Given the description of an element on the screen output the (x, y) to click on. 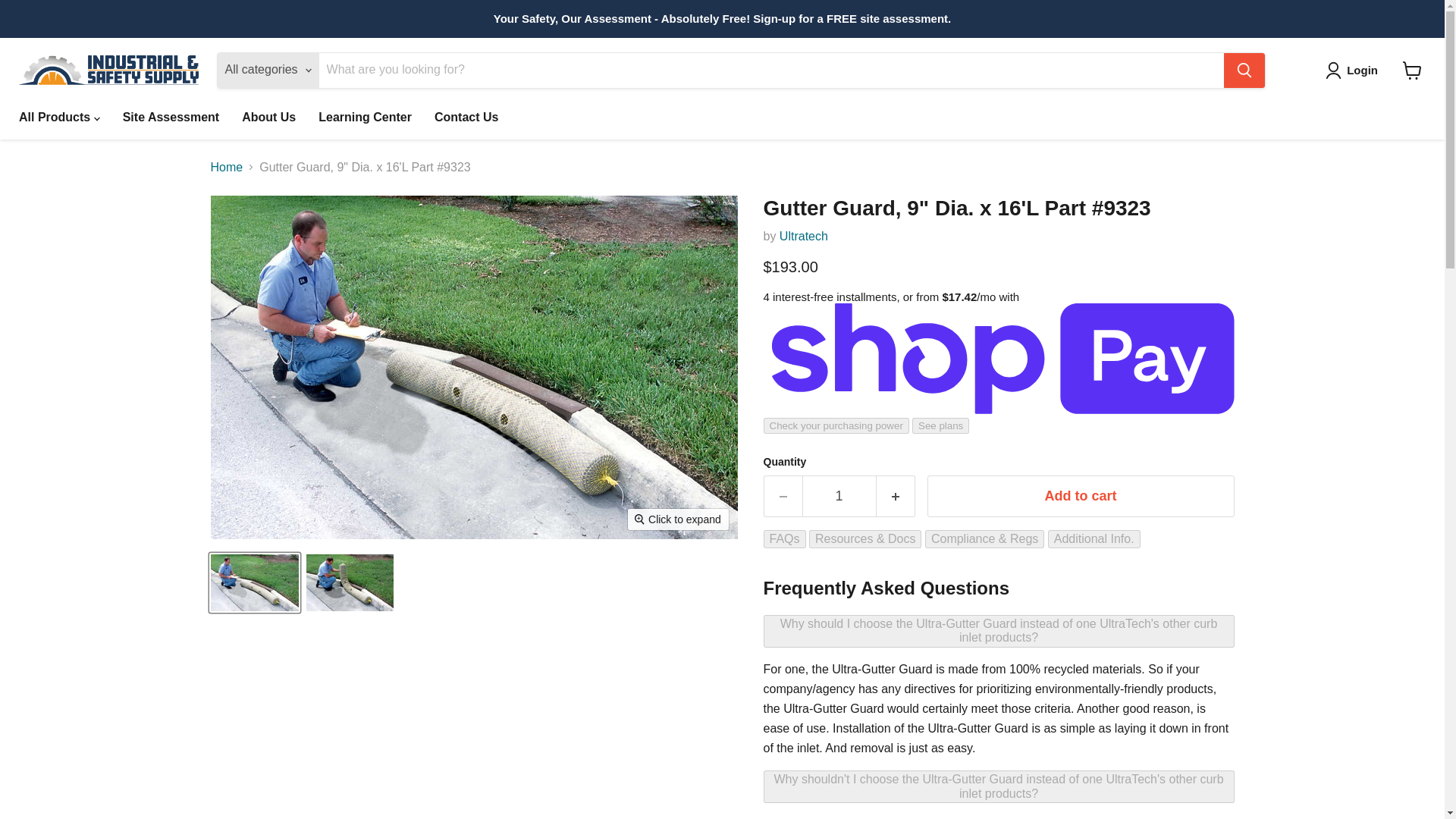
View cart (1411, 69)
Ultratech (803, 236)
1 (839, 495)
Login (1354, 70)
